Given the description of an element on the screen output the (x, y) to click on. 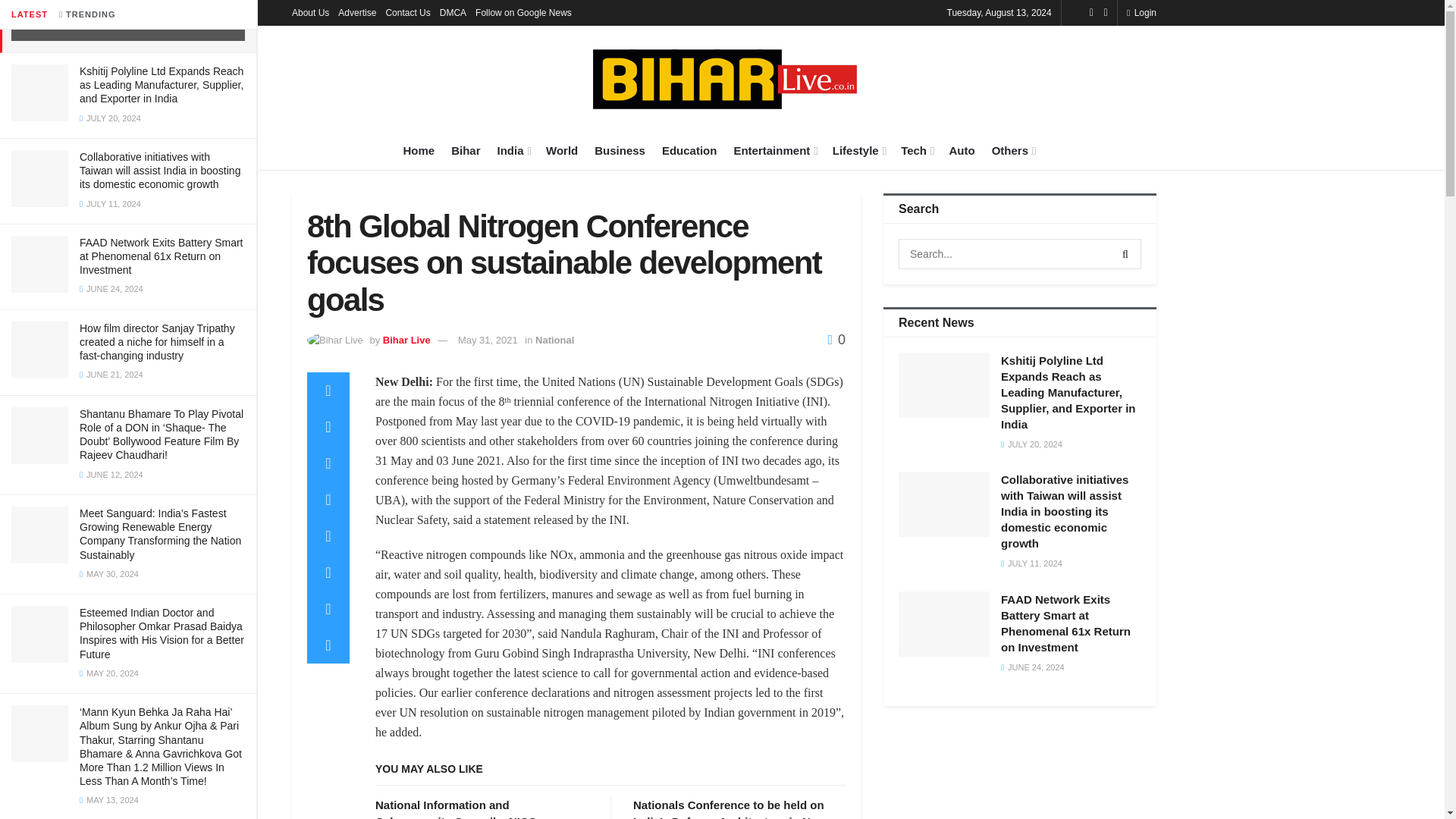
DMCA (452, 12)
Follow on Google News (524, 12)
Login (1141, 12)
About Us (310, 12)
Contact Us (407, 12)
